Given the description of an element on the screen output the (x, y) to click on. 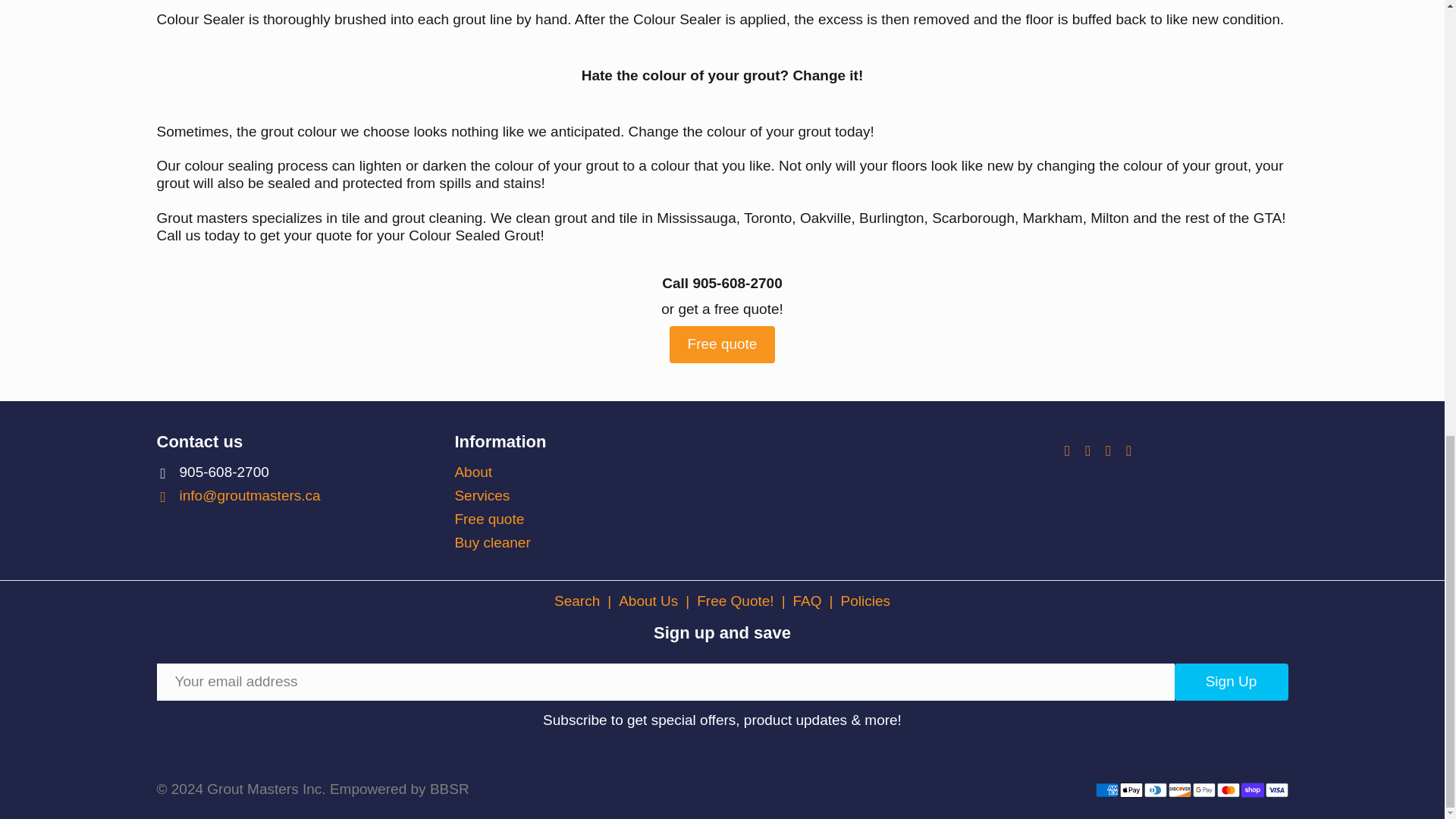
Apple Pay (1130, 789)
Visa (1276, 789)
American Express (1106, 789)
Facebook (1089, 450)
Tumblr (1130, 450)
Google Pay (1203, 789)
Discover (1179, 789)
Services (481, 495)
Free quote (722, 344)
Twitter (1069, 450)
Facebook (1089, 450)
Diners Club (1154, 789)
About (473, 471)
Buy cleaner (491, 542)
Free quote (489, 519)
